Given the description of an element on the screen output the (x, y) to click on. 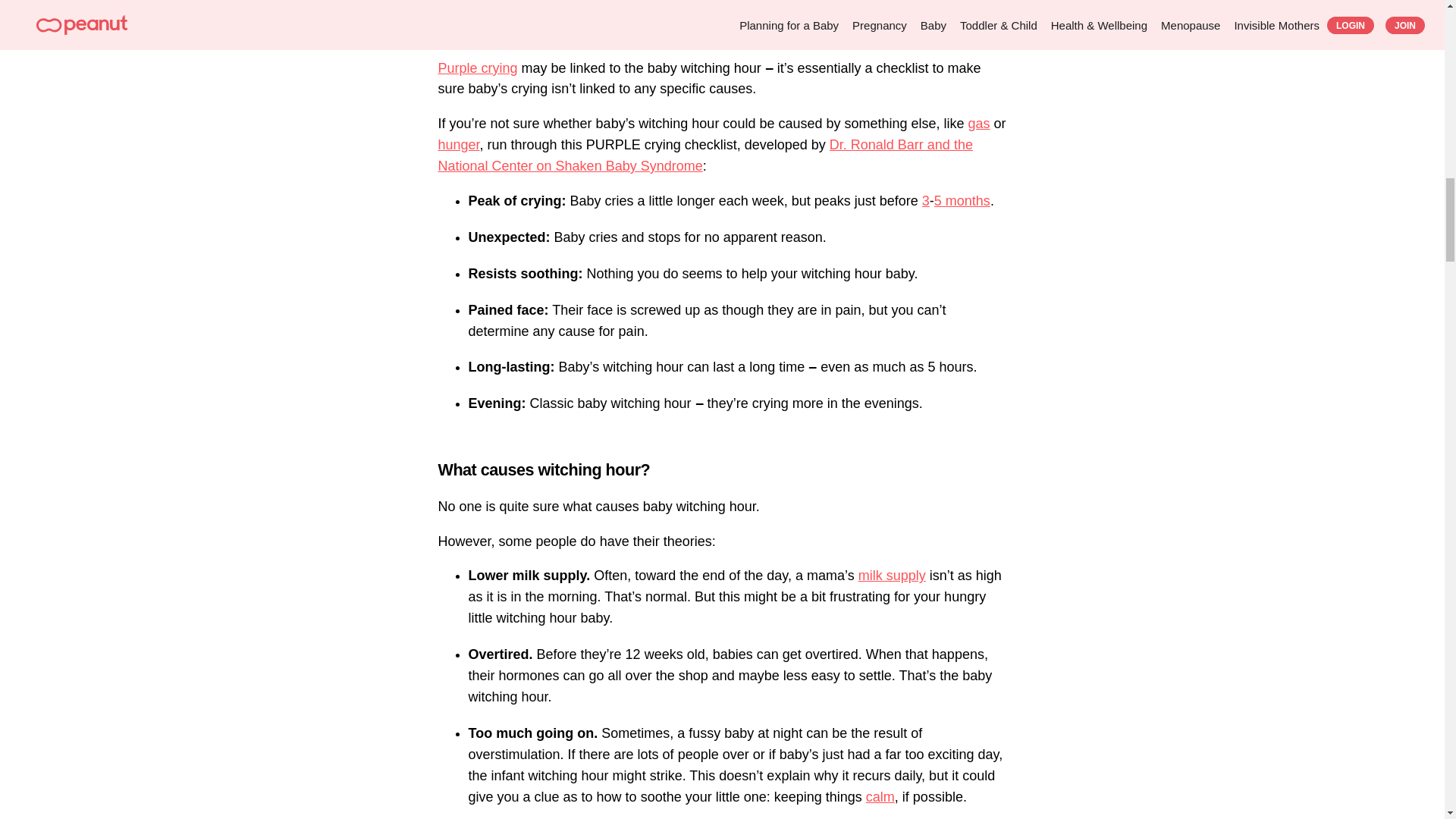
calm (880, 795)
milk supply (892, 575)
gas (979, 123)
5 months (962, 200)
hunger (459, 144)
Purple crying (478, 68)
